Given the description of an element on the screen output the (x, y) to click on. 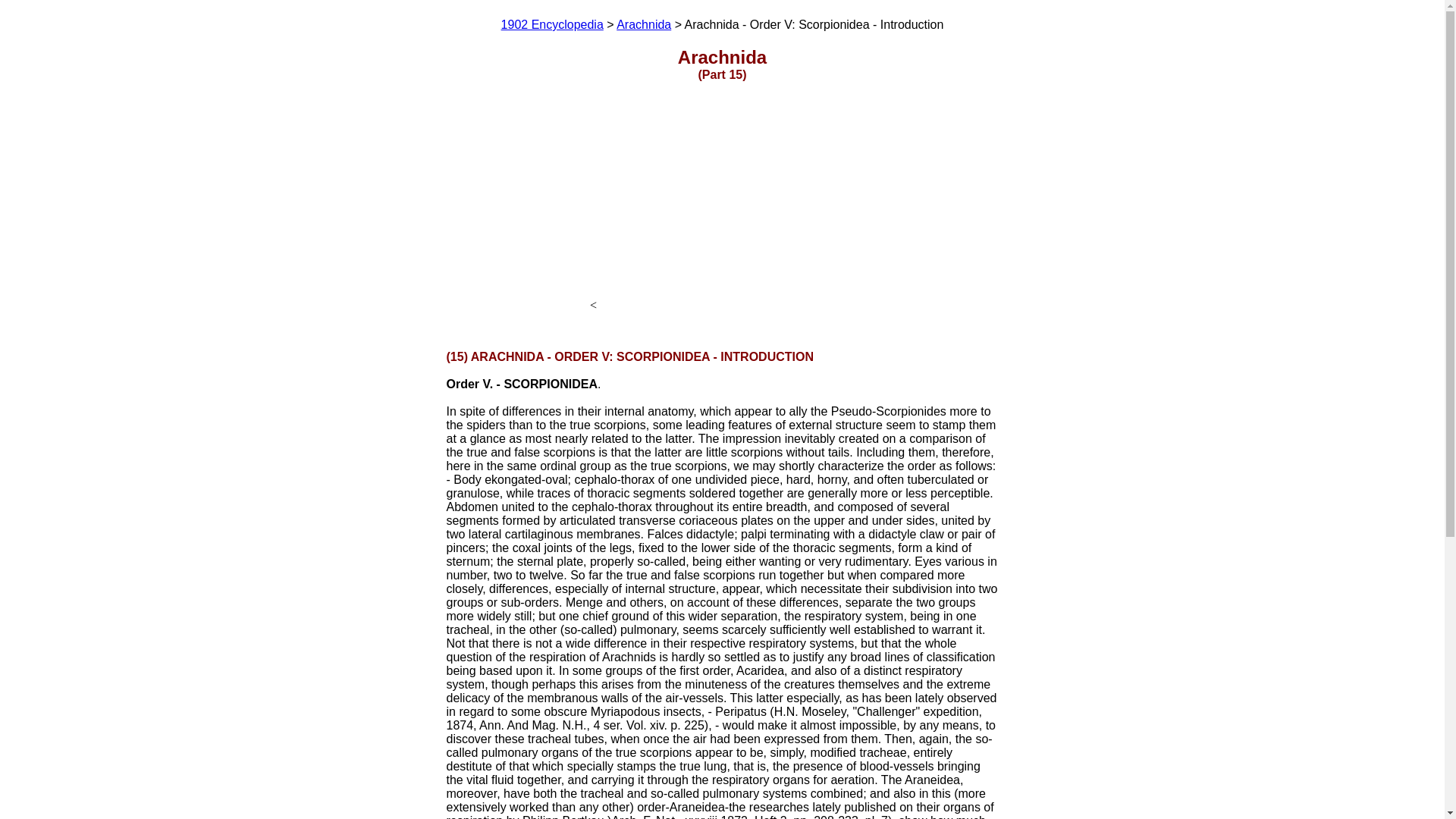
Arachnida (643, 24)
1902 Encyclopedia (552, 24)
Advertisement (726, 203)
